Given the description of an element on the screen output the (x, y) to click on. 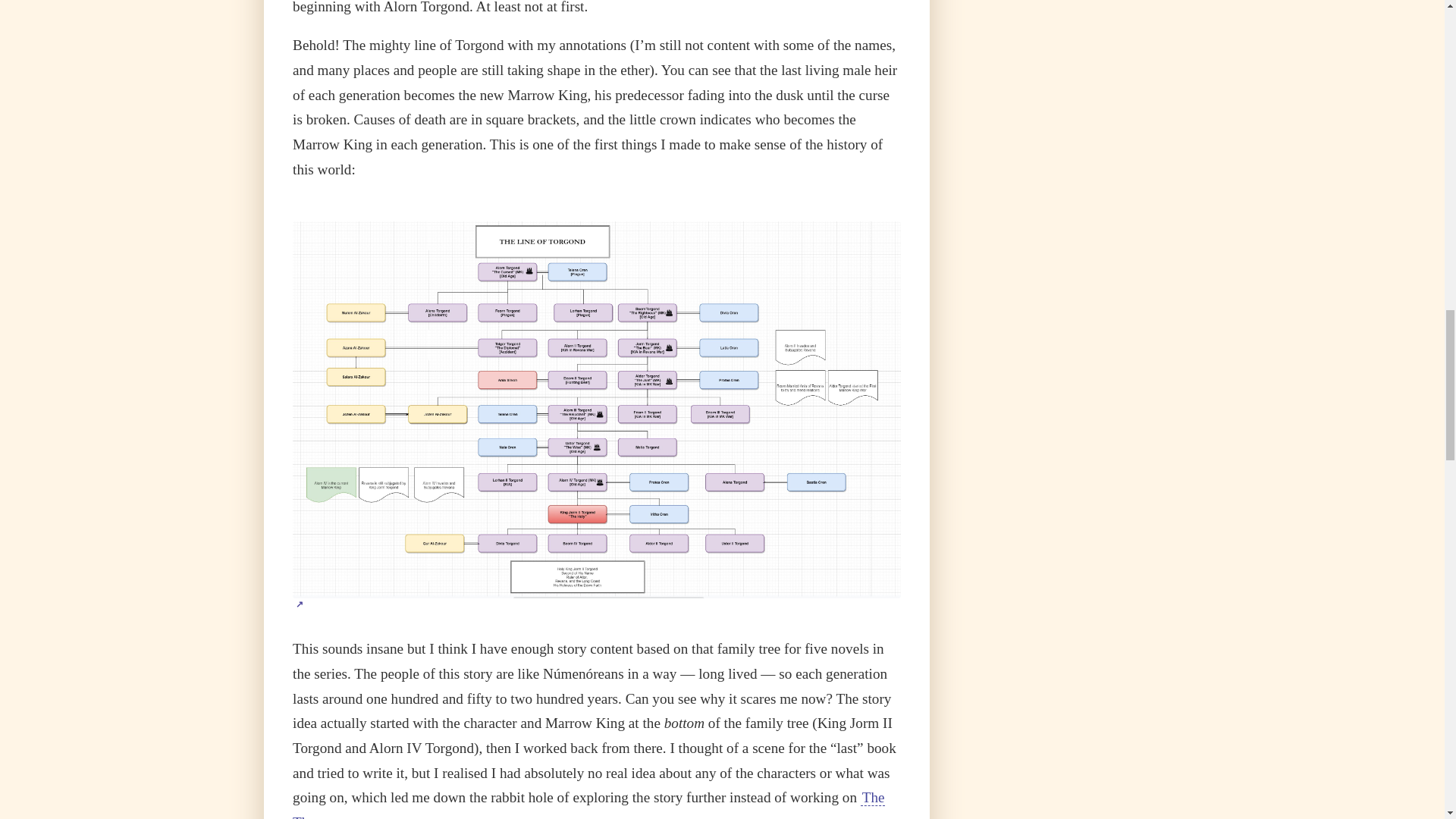
The Thaw (587, 804)
